Given the description of an element on the screen output the (x, y) to click on. 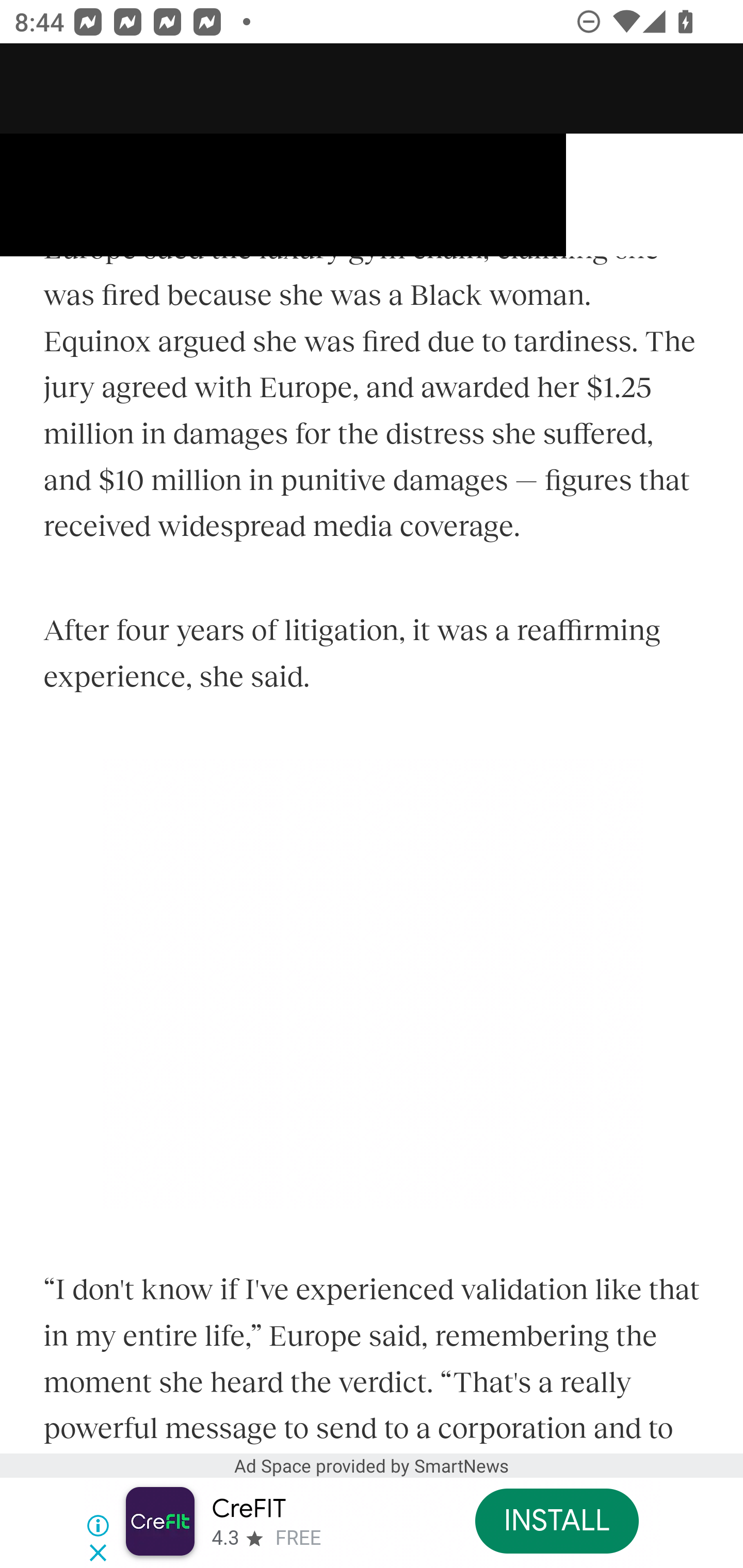
INSTALL (556, 1520)
CreFIT (248, 1508)
